Given the description of an element on the screen output the (x, y) to click on. 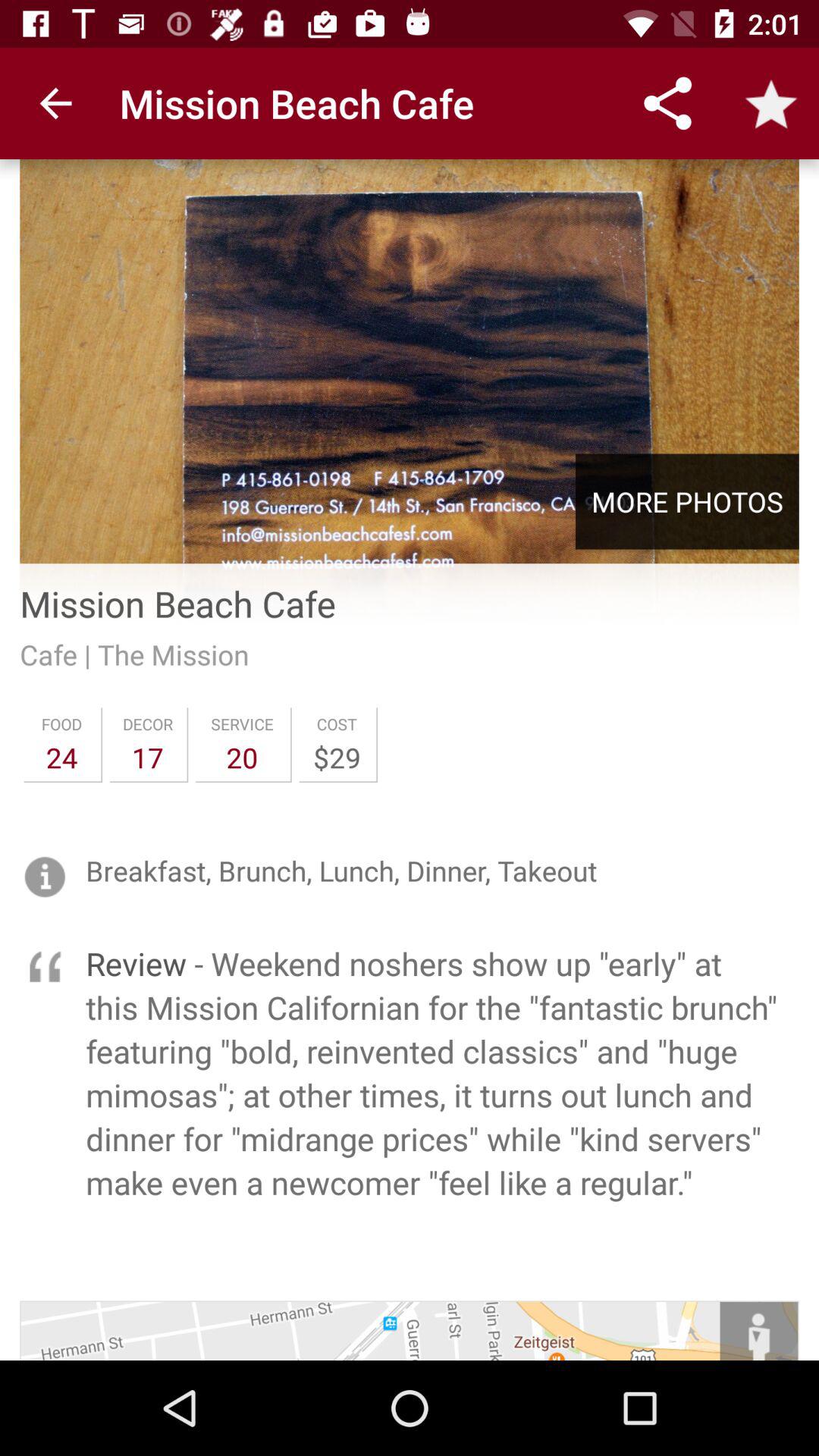
press the item at the top left corner (55, 103)
